Given the description of an element on the screen output the (x, y) to click on. 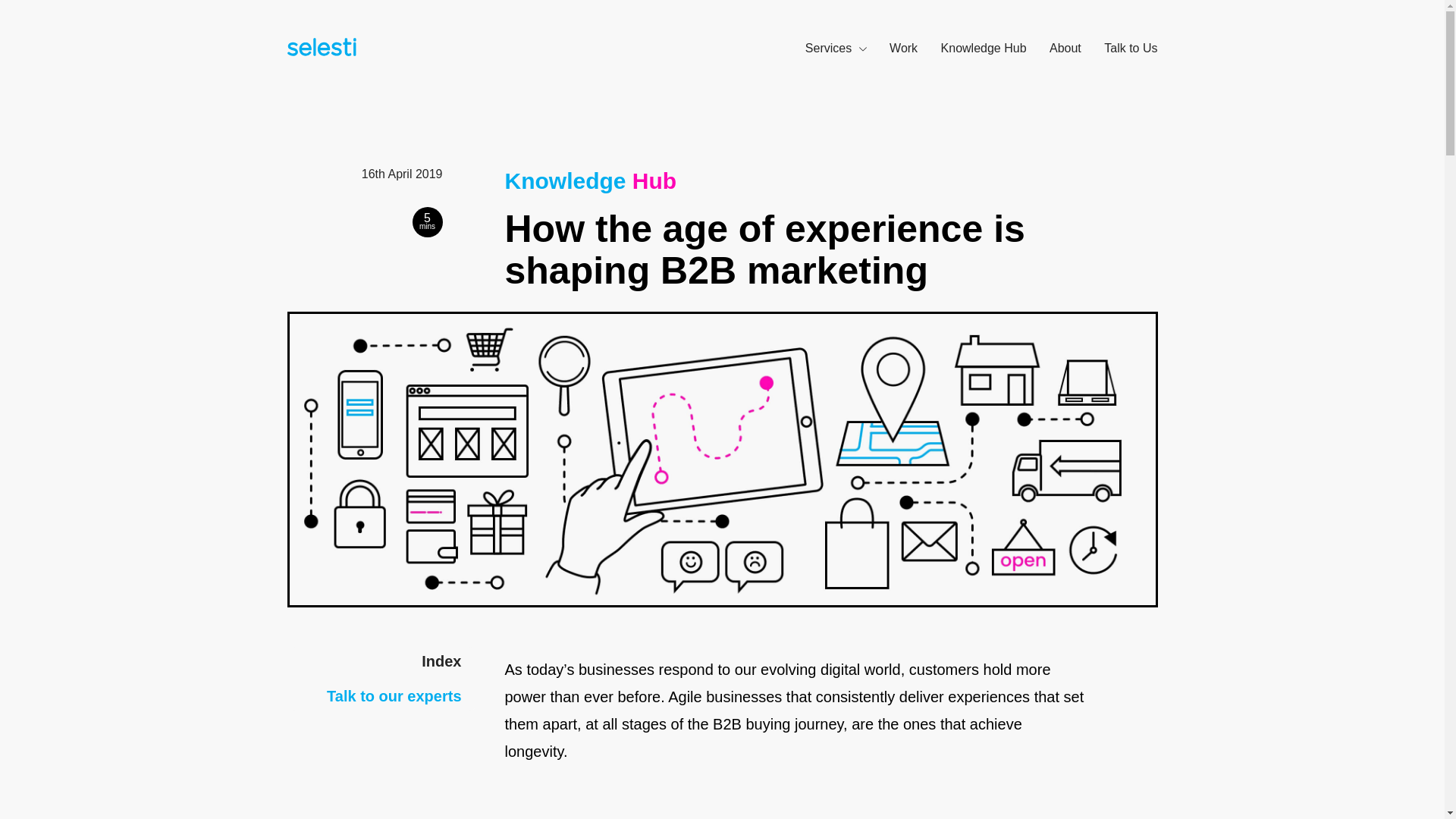
Knowledge Hub (591, 180)
Go to selesti homepage (316, 49)
Knowledge Hub (983, 47)
Work (903, 47)
Talk to Us (1130, 47)
About (1065, 47)
Talk to our experts (393, 695)
